Given the description of an element on the screen output the (x, y) to click on. 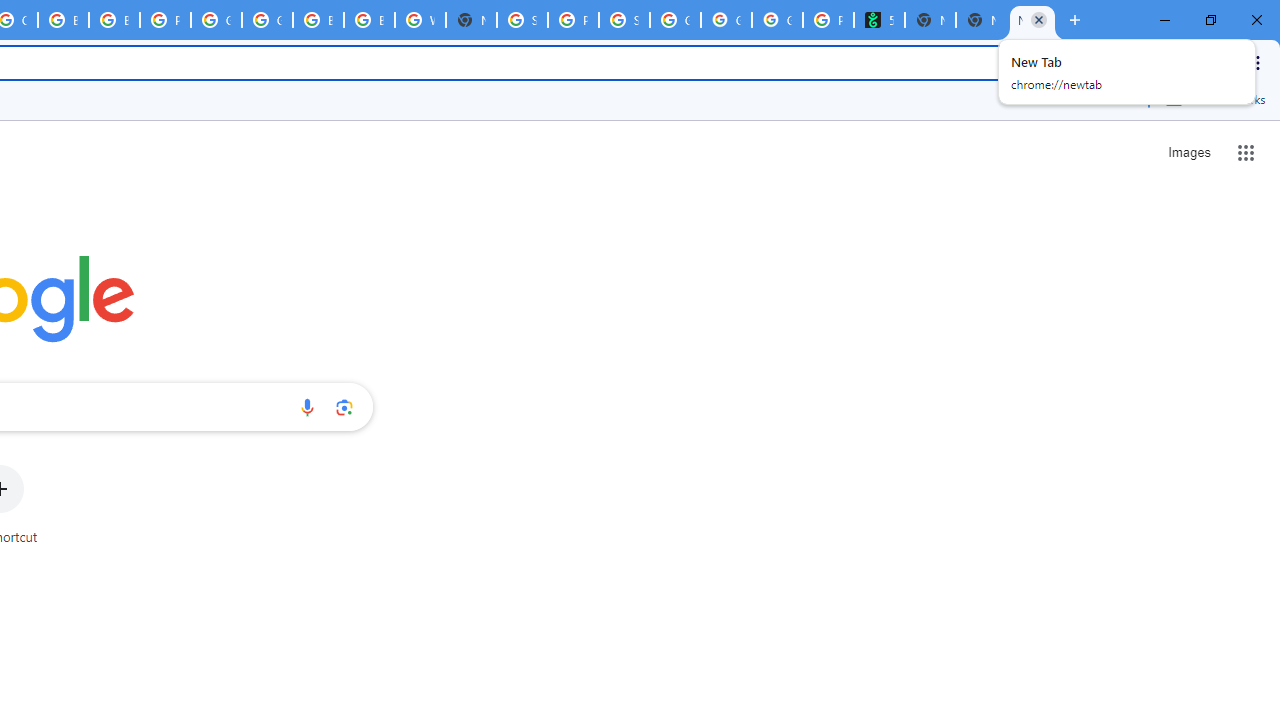
Google Cloud Platform (215, 20)
Browse Chrome as a guest - Computer - Google Chrome Help (318, 20)
Search for Images  (1188, 152)
New Tab (1032, 20)
Browse Chrome as a guest - Computer - Google Chrome Help (63, 20)
Google Cloud Platform (267, 20)
Browse Chrome as a guest - Computer - Google Chrome Help (369, 20)
